Given the description of an element on the screen output the (x, y) to click on. 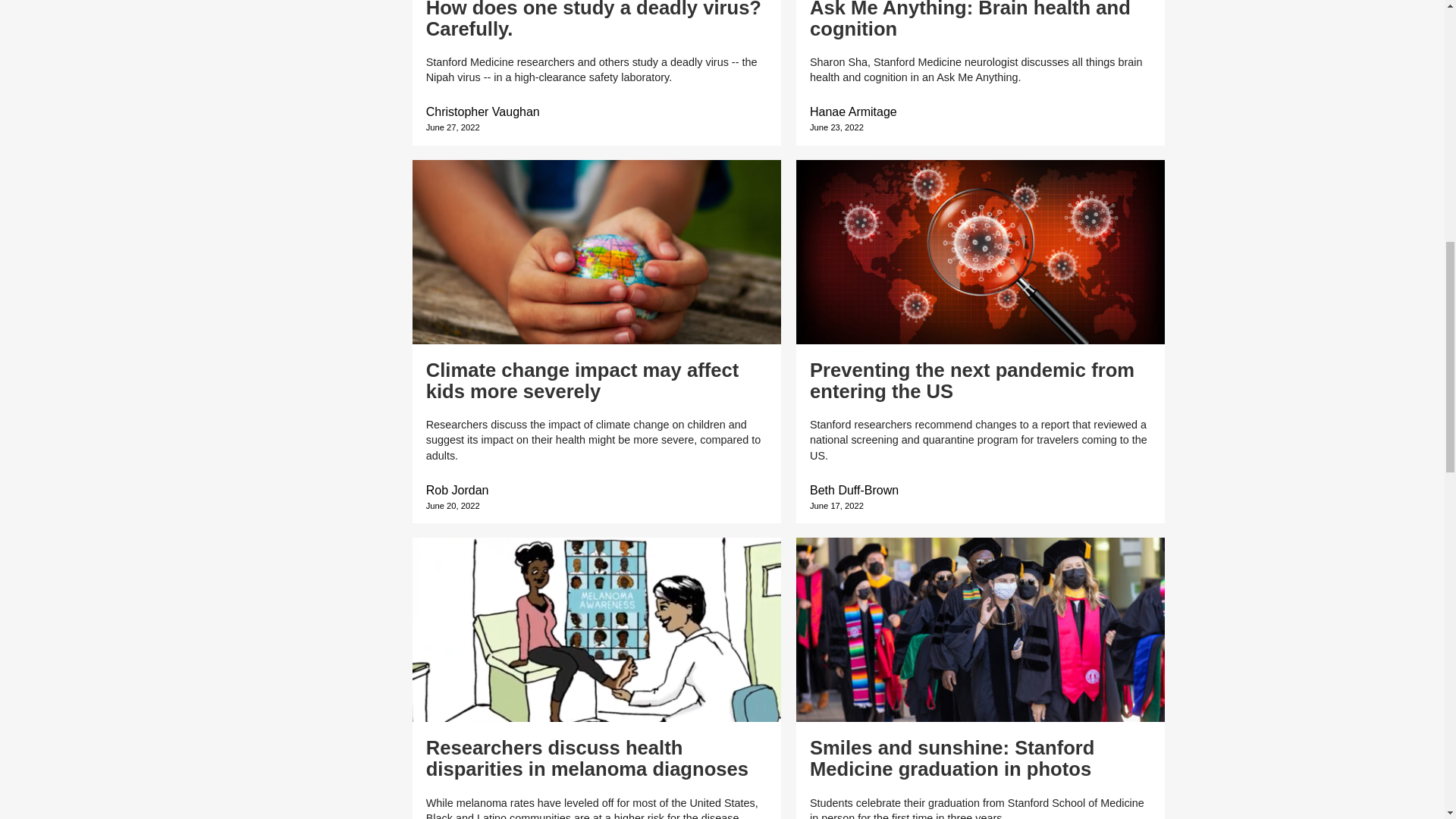
Climate change impact may affect kids more severely (582, 380)
Ask Me Anything: Brain health and cognition (970, 19)
Rob Jordan (457, 490)
Preventing the next pandemic from entering the US (971, 380)
Hanae Armitage (852, 111)
Christopher Vaughan (483, 111)
Researchers discuss health disparities in melanoma diagnoses (587, 758)
Beth Duff-Brown (853, 490)
How does one study a deadly virus? Carefully. (593, 19)
Smiles and sunshine: Stanford Medicine graduation in photos (951, 758)
